Given the description of an element on the screen output the (x, y) to click on. 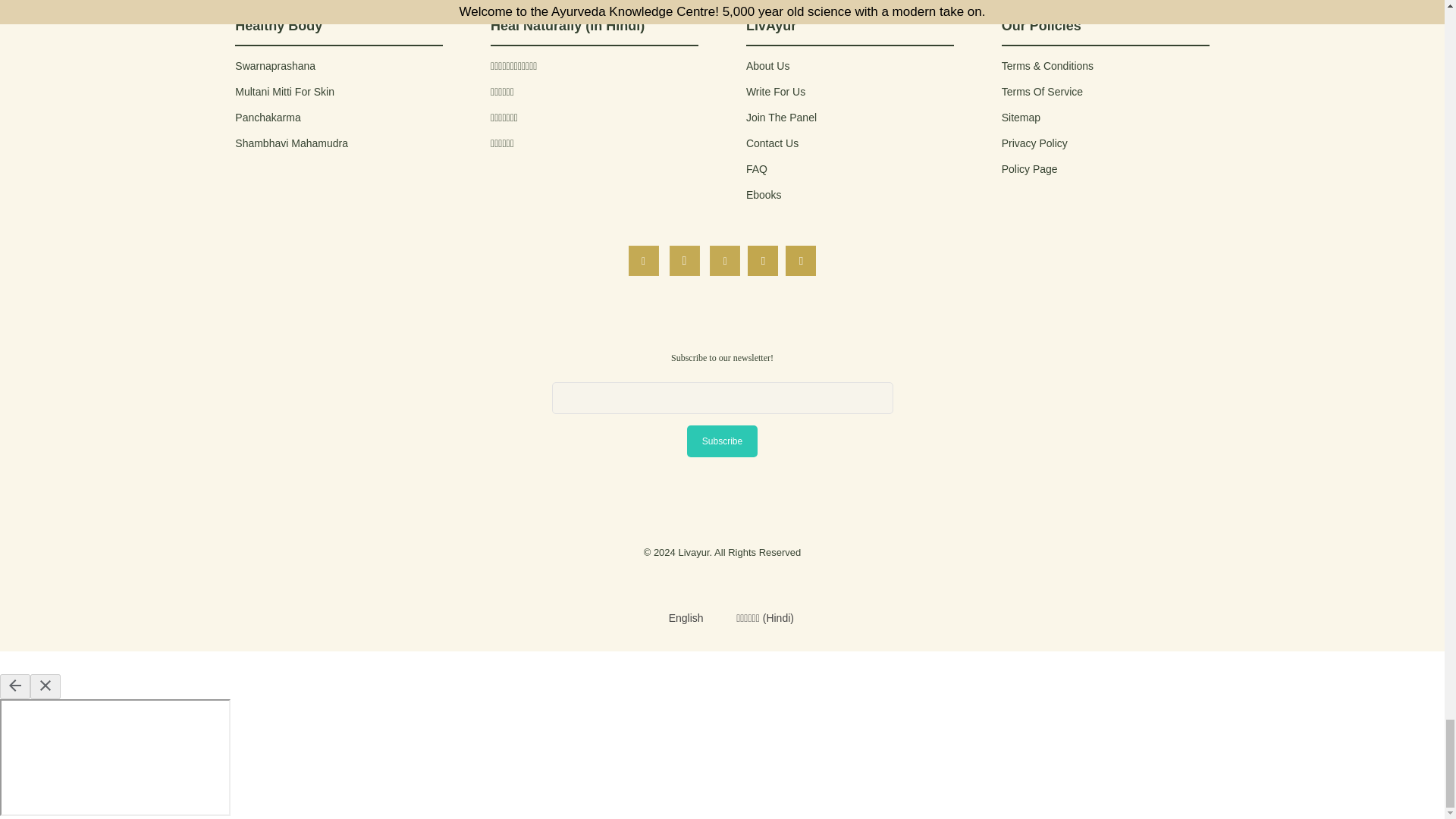
Subscribe (722, 440)
